Given the description of an element on the screen output the (x, y) to click on. 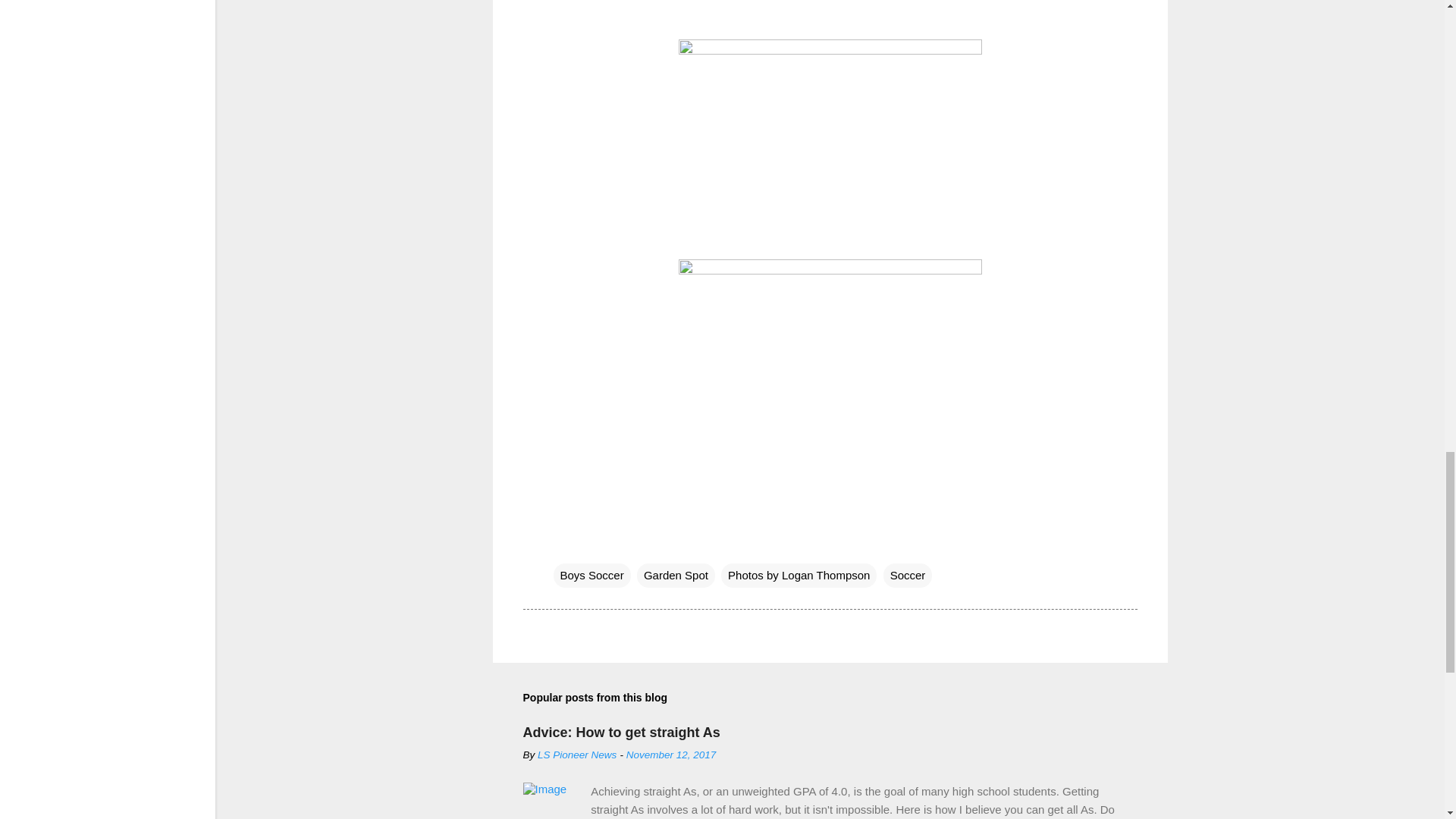
Email Post (562, 544)
Soccer (908, 575)
LS Pioneer News (576, 754)
Photos by Logan Thompson (798, 575)
Boys Soccer (591, 575)
Garden Spot (675, 575)
November 12, 2017 (671, 754)
Advice: How to get straight As (621, 732)
